Given the description of an element on the screen output the (x, y) to click on. 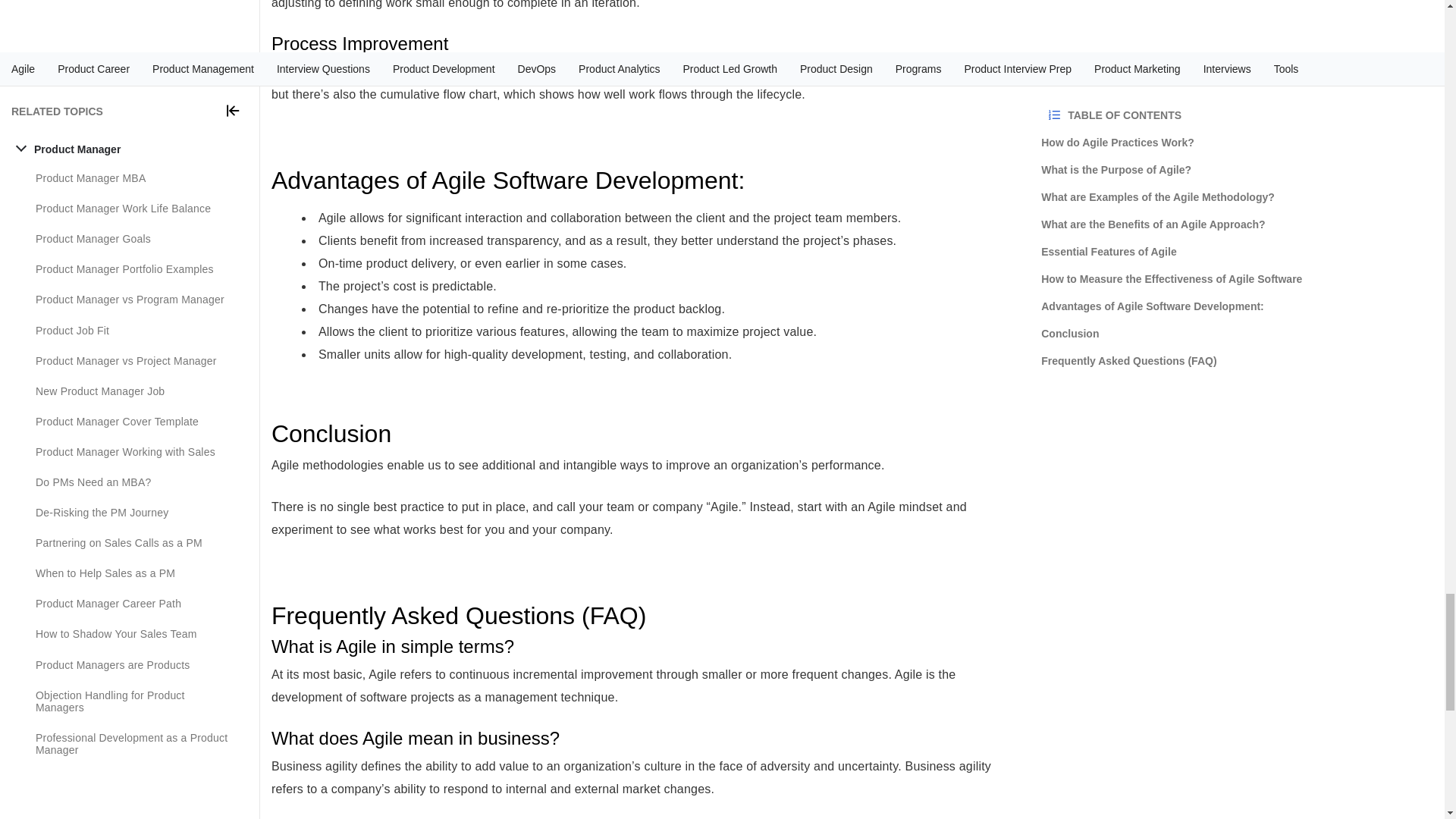
Conclusion (643, 433)
Process Improvement  (643, 43)
What does Agile mean in business? (643, 738)
Advantages of Agile Software Development: (643, 180)
What is Agile in simple terms? (643, 645)
